Given the description of an element on the screen output the (x, y) to click on. 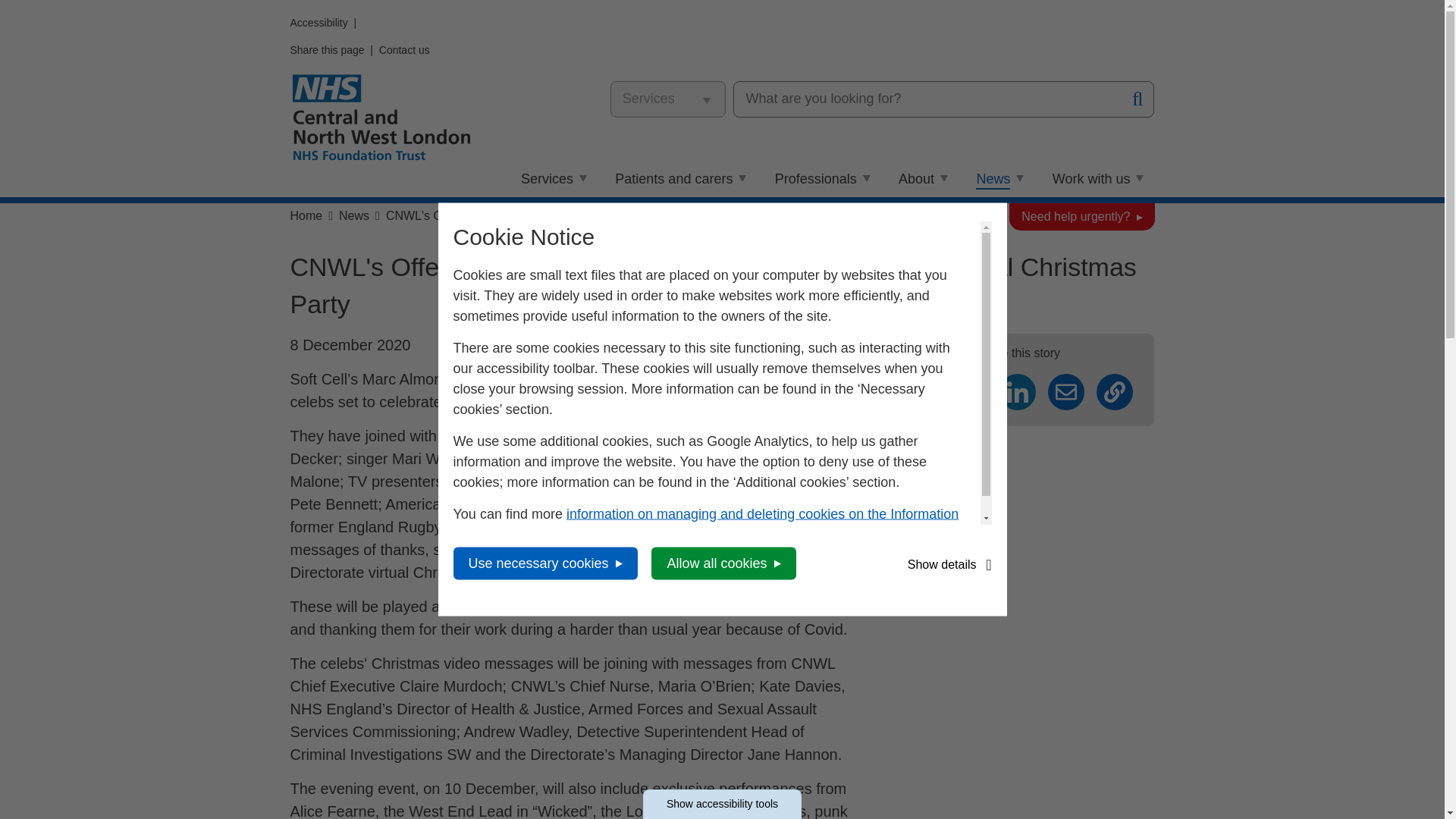
Patients and carers (681, 178)
Services (574, 5)
Use necessary cookies (544, 563)
Share this page (326, 50)
Health and Justice (596, 119)
Services (554, 178)
Community services (602, 59)
Sexual health services (609, 89)
Contact us (403, 50)
Recovery and Wellbeing College (951, 28)
CAMHS (868, 112)
Allow all cookies (722, 563)
Accessibility (318, 22)
Show details (949, 564)
